Given the description of an element on the screen output the (x, y) to click on. 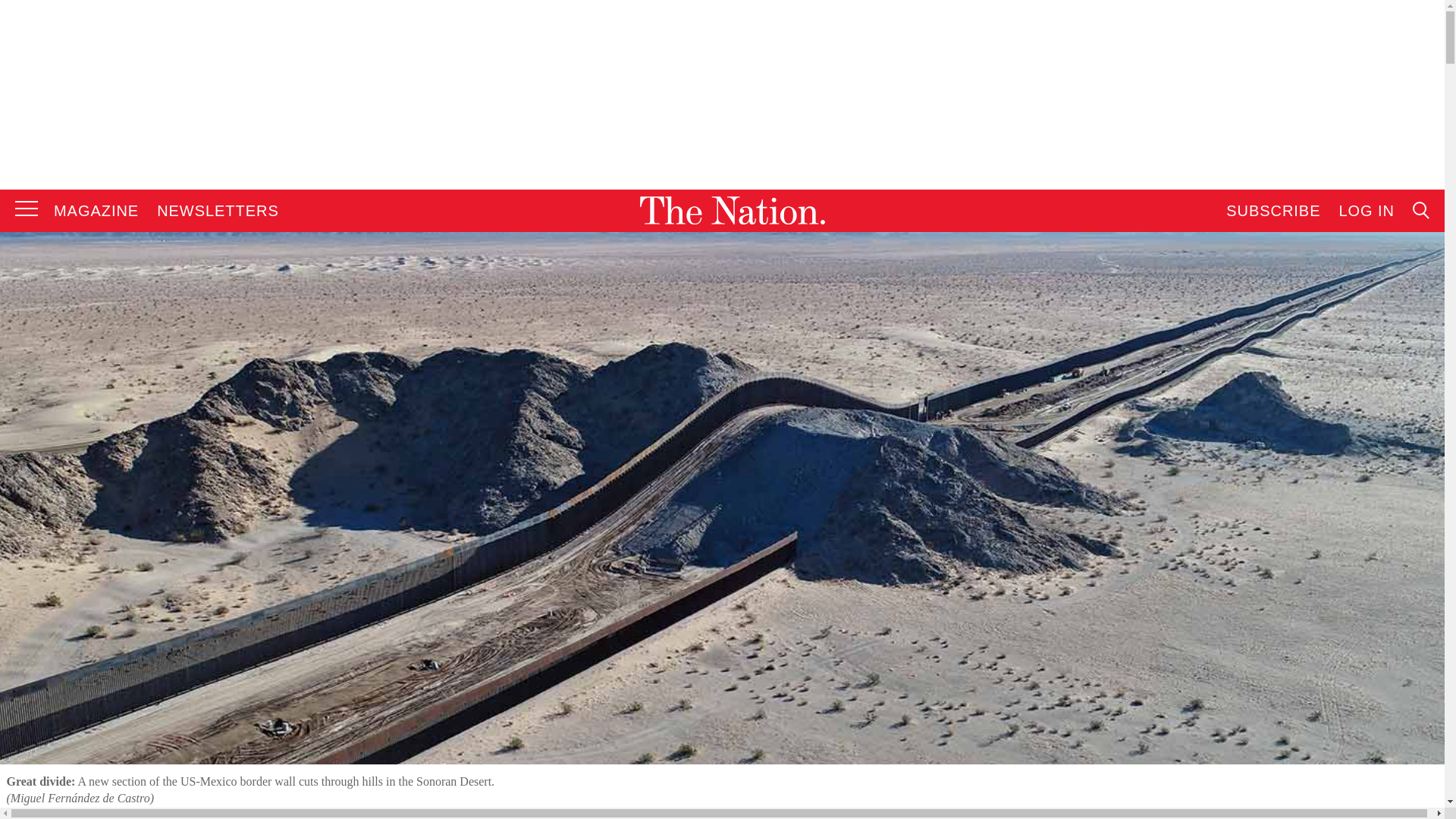
MAGAZINE (95, 210)
LOG IN (1366, 210)
NEWSLETTERS (218, 210)
SUBSCRIBE (1272, 210)
Search (1278, 364)
